Given the description of an element on the screen output the (x, y) to click on. 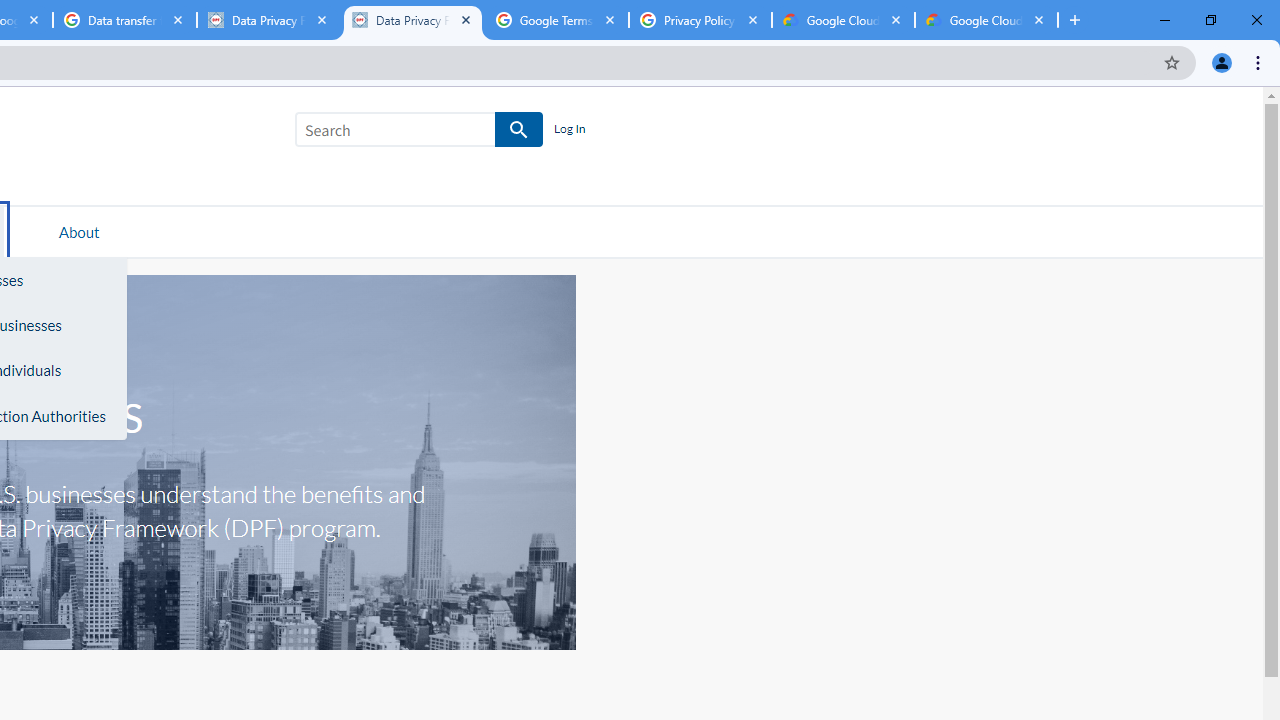
Data Privacy Framework (268, 20)
Google Cloud Privacy Notice (843, 20)
SEARCH (519, 130)
Log In (569, 129)
About (79, 231)
Google Cloud Privacy Notice (986, 20)
